Given the description of an element on the screen output the (x, y) to click on. 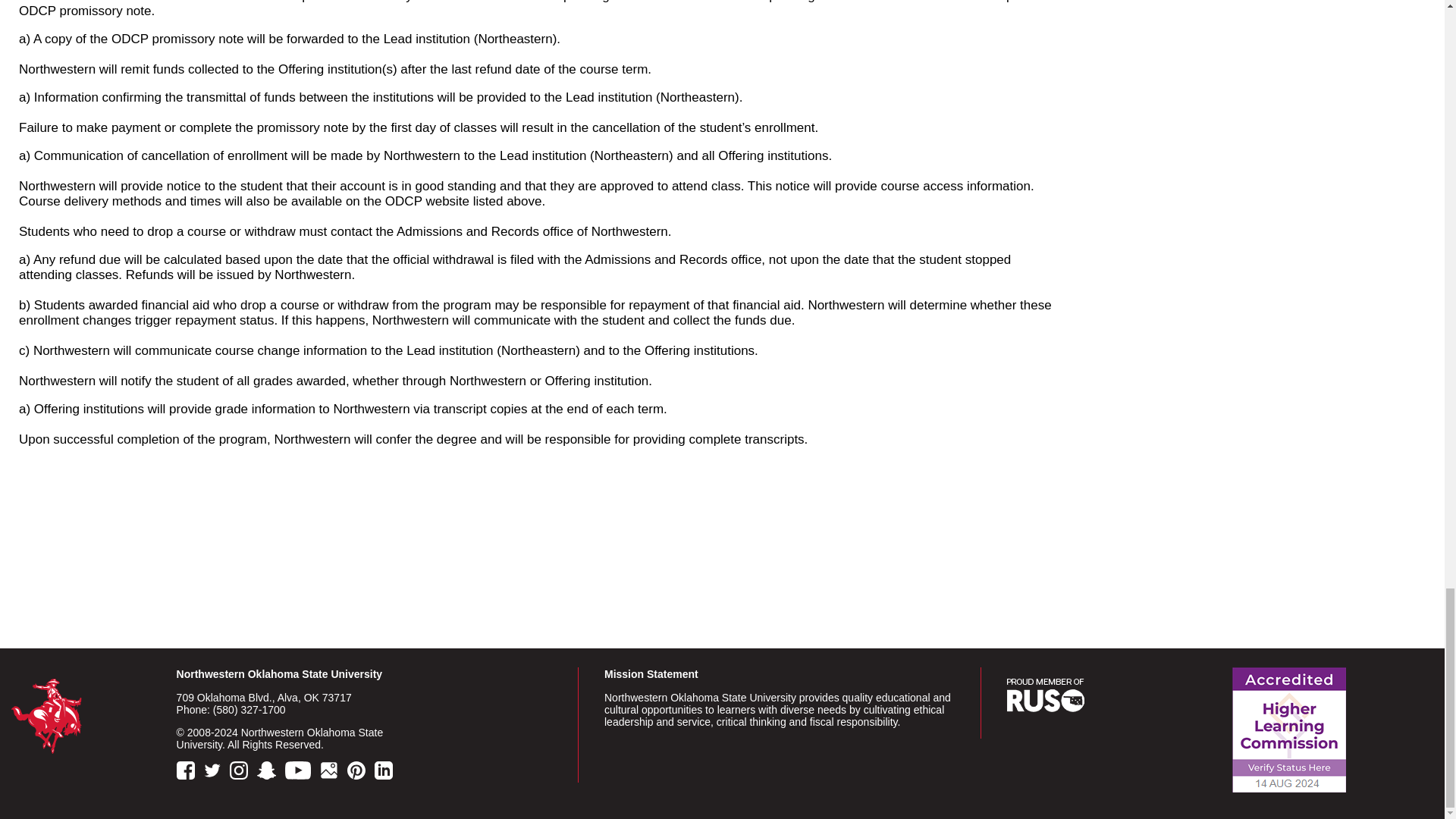
Northwestern's Pinterest (359, 771)
Northwestern's Instagram (241, 771)
Northwestern's Snapchat (269, 771)
Northwestern's Facebook (188, 771)
Northwestern's LinkedIn (386, 771)
Northwestern's Flickr (331, 771)
Northwestern's Youtube (301, 771)
Northwestern's Twitter (215, 771)
